Given the description of an element on the screen output the (x, y) to click on. 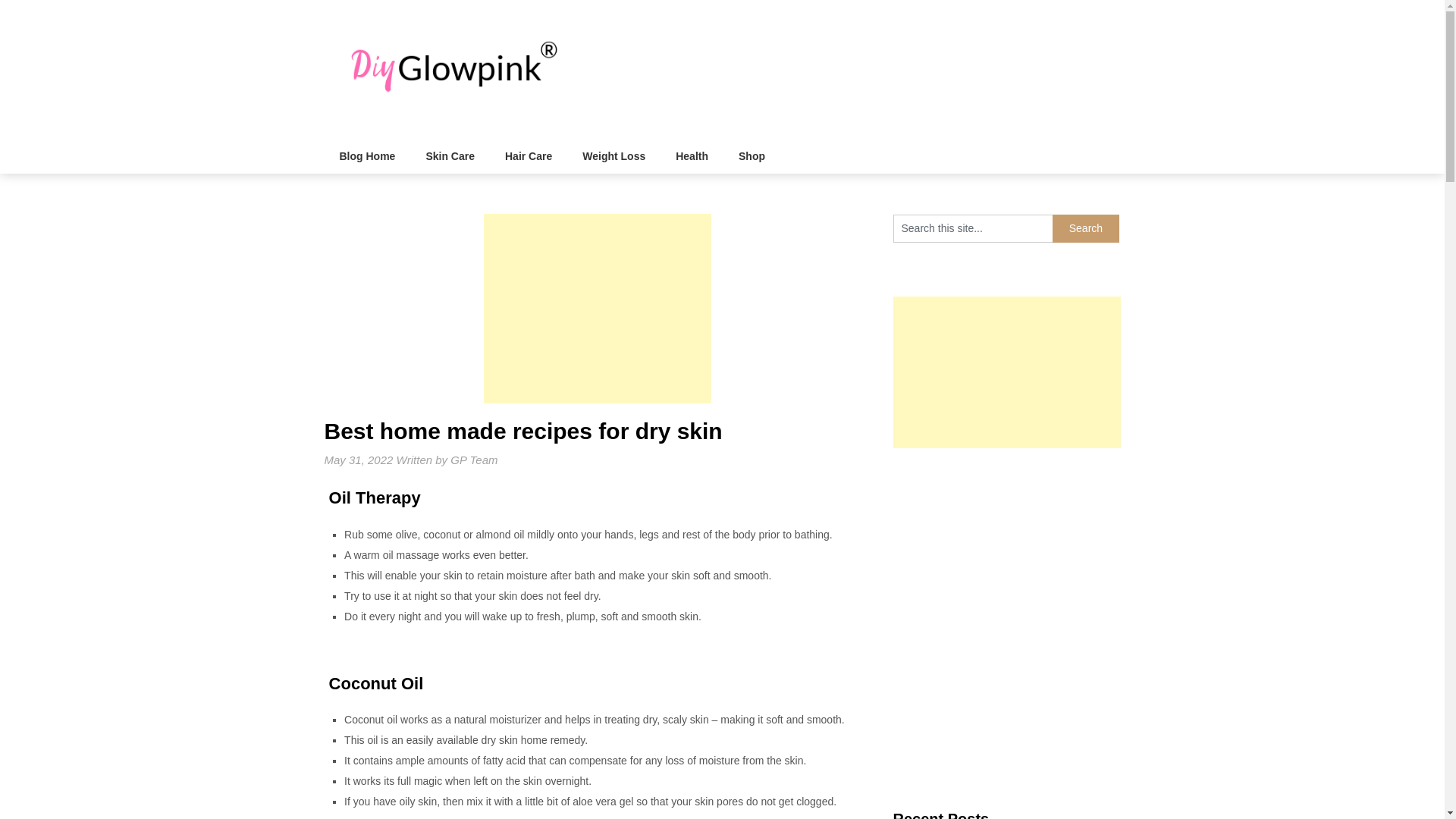
Shop (751, 156)
Search (1085, 228)
Health (692, 156)
Search this site... (972, 228)
Hair Care (528, 156)
Weight Loss (614, 156)
Advertisement (1007, 543)
Advertisement (597, 308)
Skin Care (449, 156)
Blog Home (367, 156)
